Given the description of an element on the screen output the (x, y) to click on. 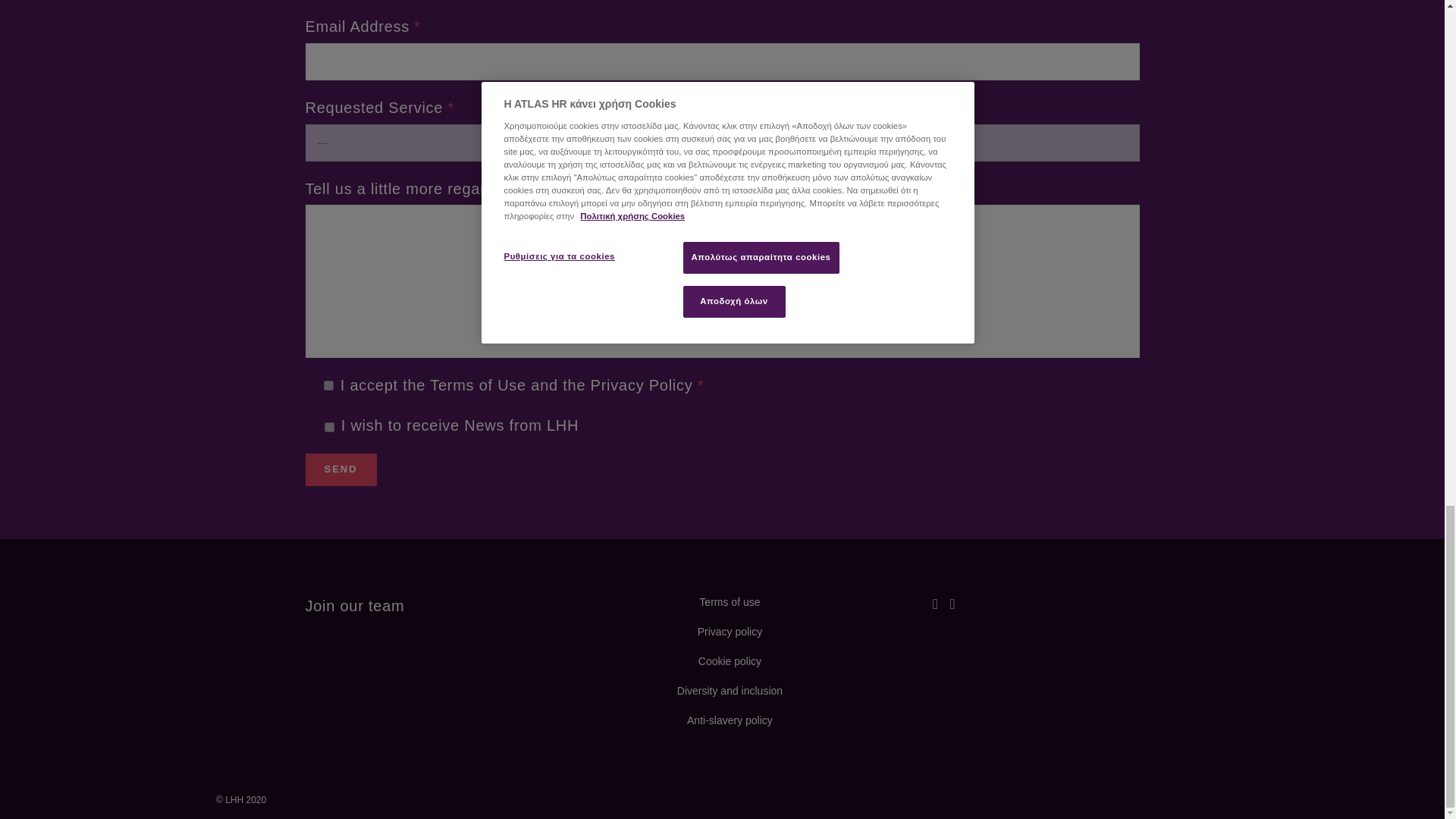
I wish to receive News from LHH (329, 427)
1 (328, 385)
SEND (339, 469)
